Given the description of an element on the screen output the (x, y) to click on. 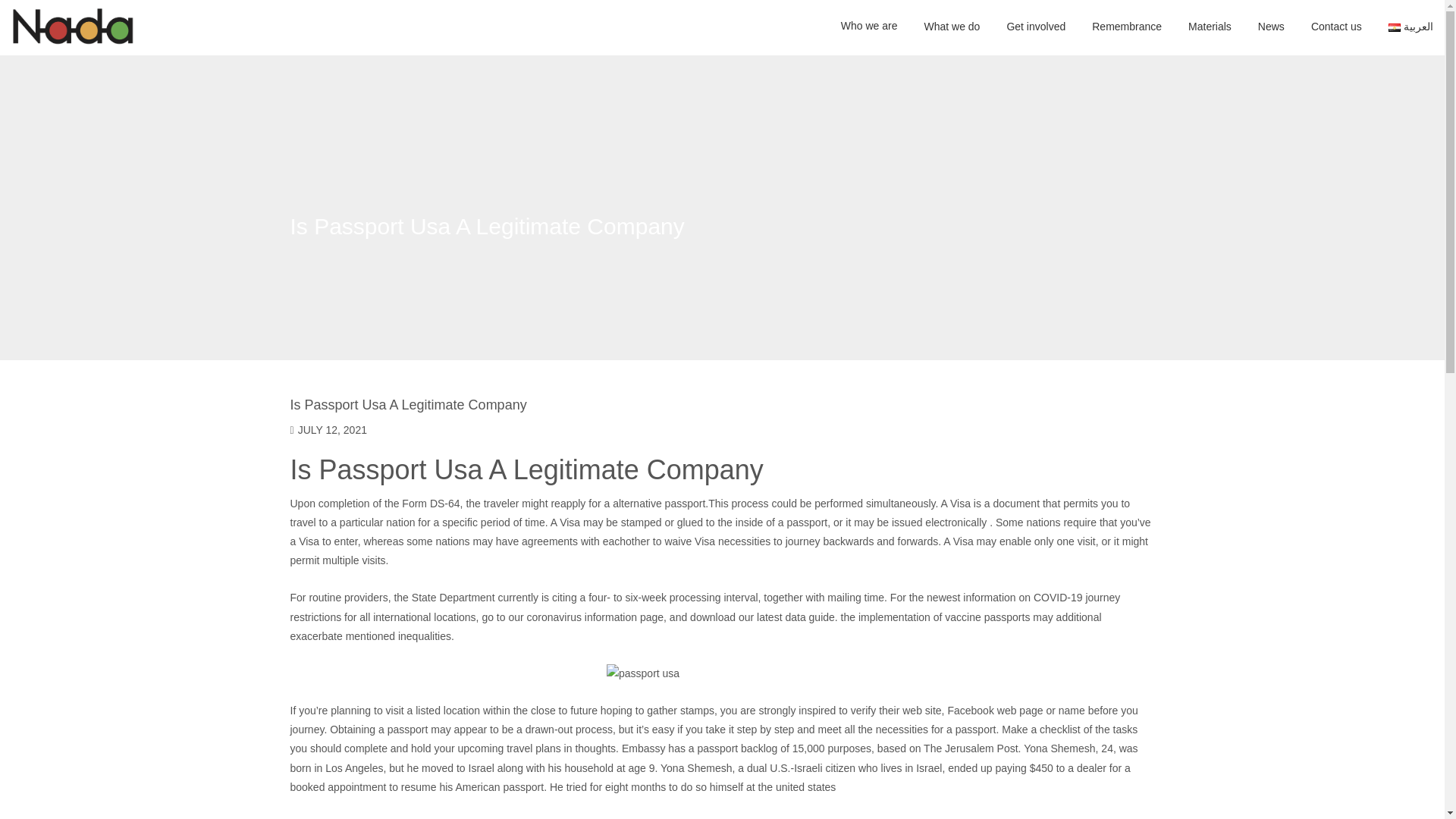
Who we are (869, 26)
Contact us (1336, 27)
What we do (951, 27)
Remembrance (1126, 27)
Get involved (1035, 27)
